Given the description of an element on the screen output the (x, y) to click on. 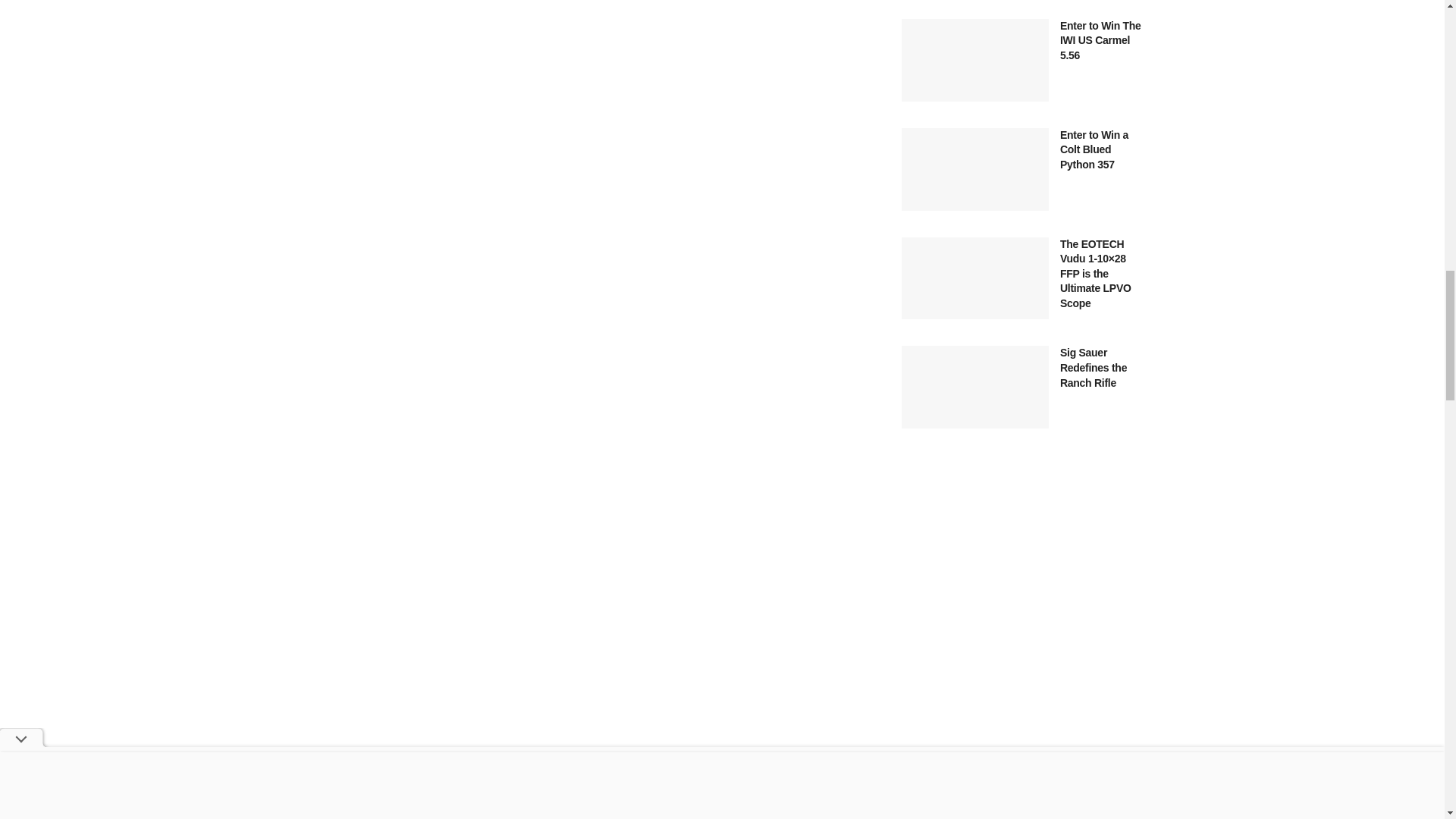
3rd party ad content (1024, 579)
3rd party ad content (1024, 762)
